Given the description of an element on the screen output the (x, y) to click on. 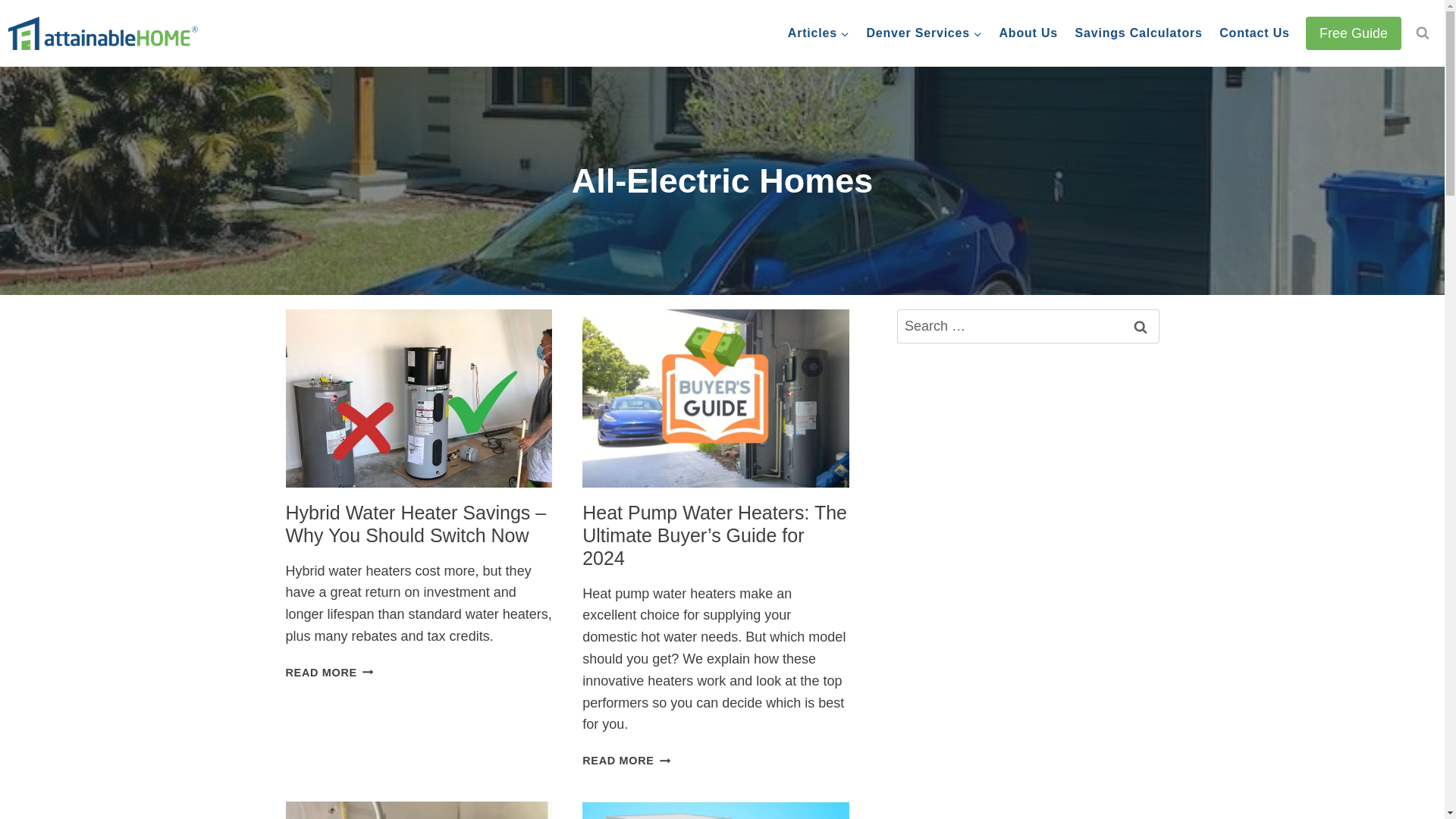
Articles (818, 33)
Search (1139, 326)
Search (1139, 326)
